Given the description of an element on the screen output the (x, y) to click on. 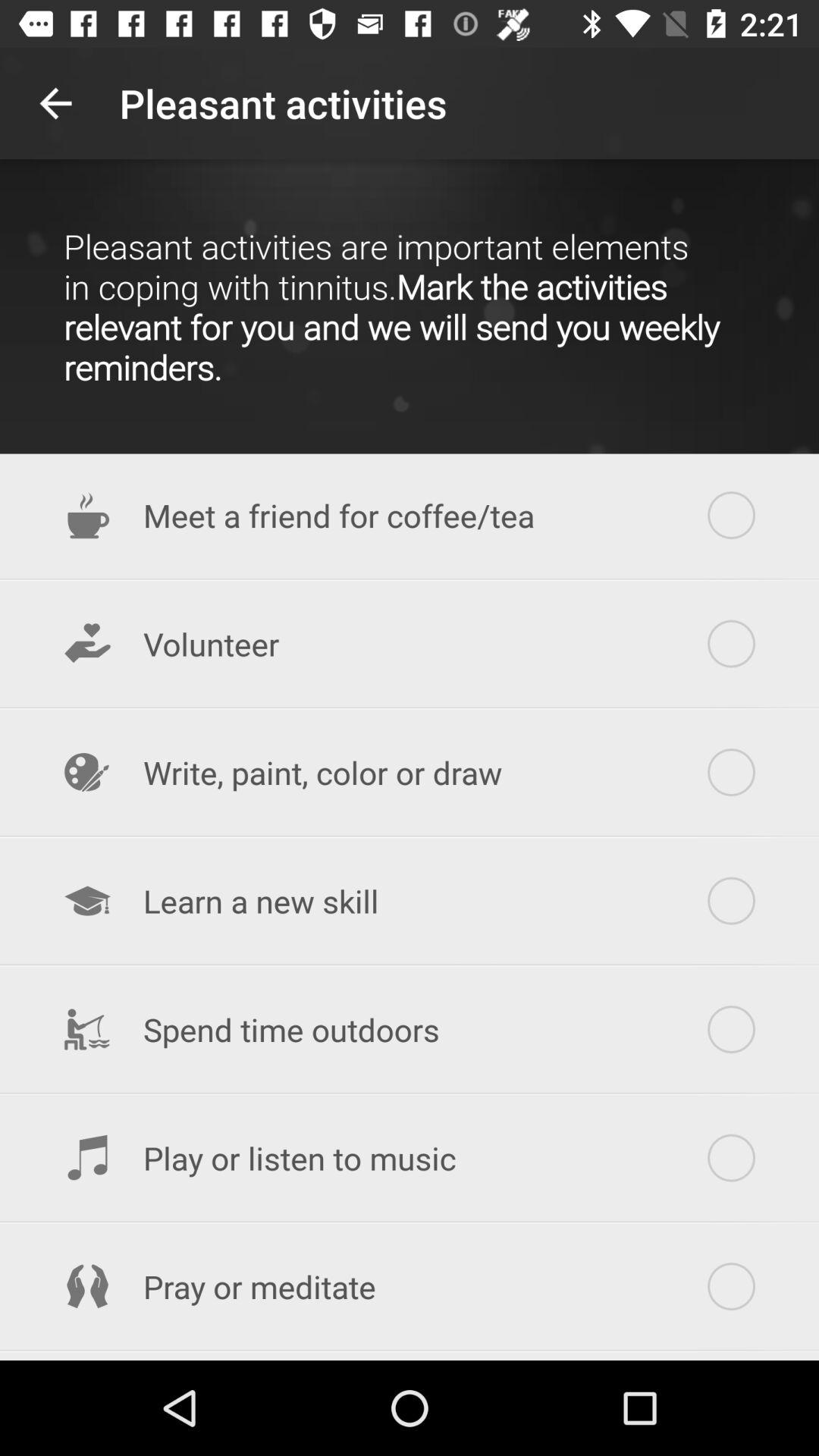
click item next to the pleasant activities (55, 103)
